Given the description of an element on the screen output the (x, y) to click on. 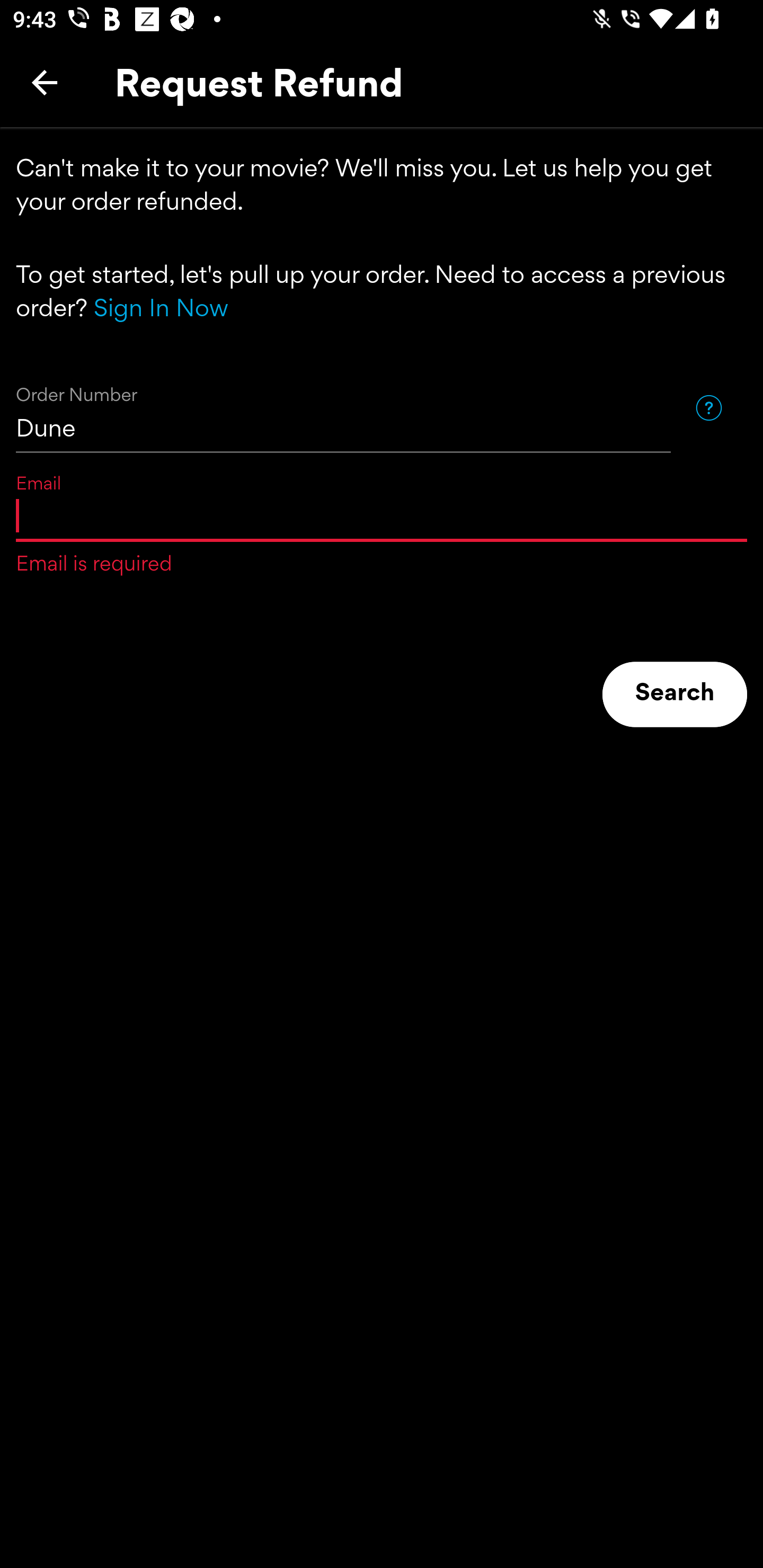
Back (44, 82)
Dune (343, 408)
Help (708, 407)
Email is required (381, 515)
Search (674, 694)
